Given the description of an element on the screen output the (x, y) to click on. 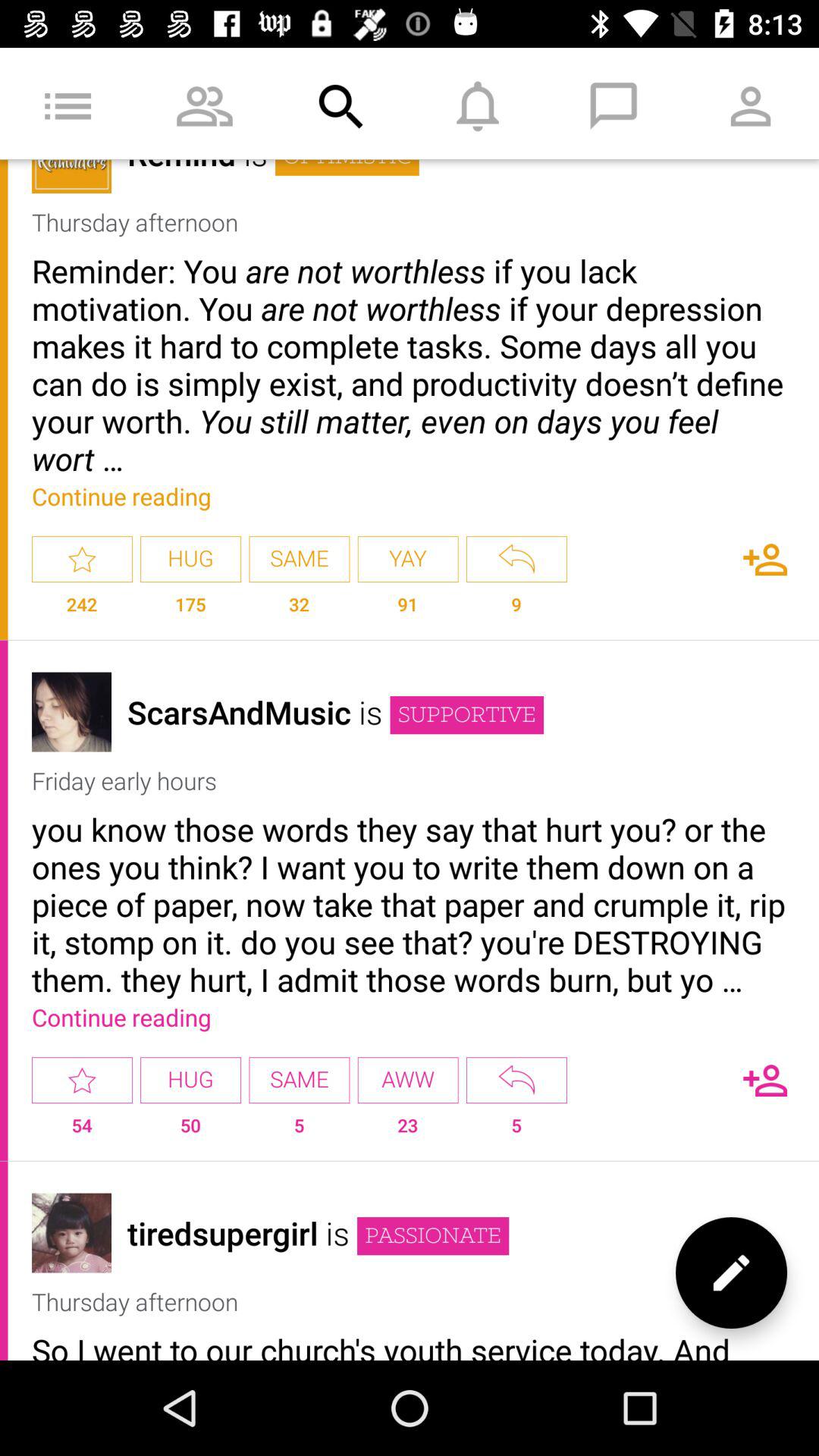
open the icon to the left of hug icon (81, 1131)
